Given the description of an element on the screen output the (x, y) to click on. 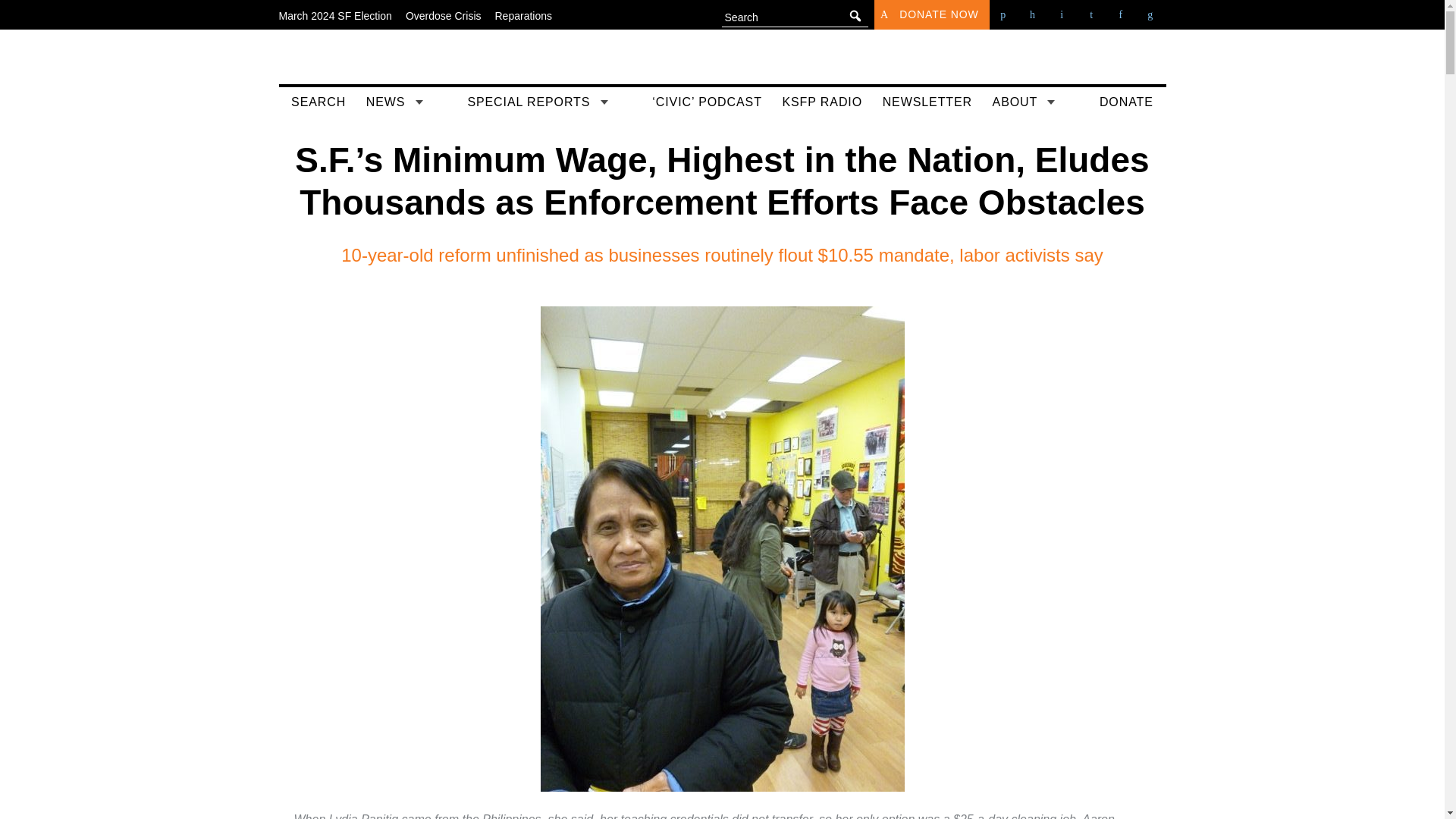
SEARCH (318, 101)
SPECIAL REPORTS (549, 103)
March 2024 SF Election (335, 15)
DONATE NOW (932, 14)
Link to Facebook Profile (1003, 13)
Overdose Crisis (443, 15)
Link to Twitter Page (1034, 13)
Link to YouTube Page (1061, 13)
Reparations (523, 15)
Link to LinkedIn Page (1121, 13)
